Given the description of an element on the screen output the (x, y) to click on. 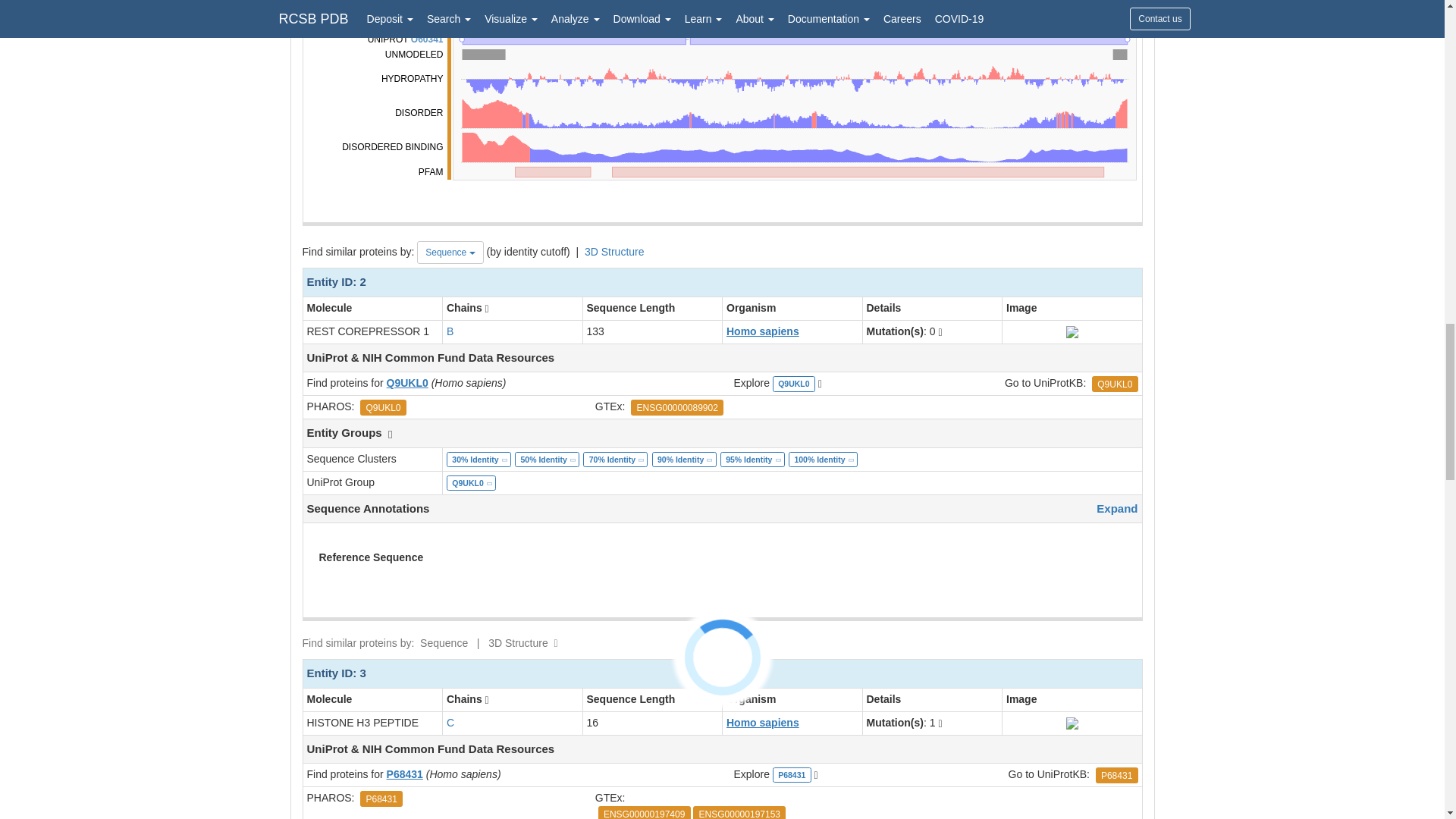
Diseases, drugs and related data (444, 406)
Diseases, drugs and related data (792, 7)
